Given the description of an element on the screen output the (x, y) to click on. 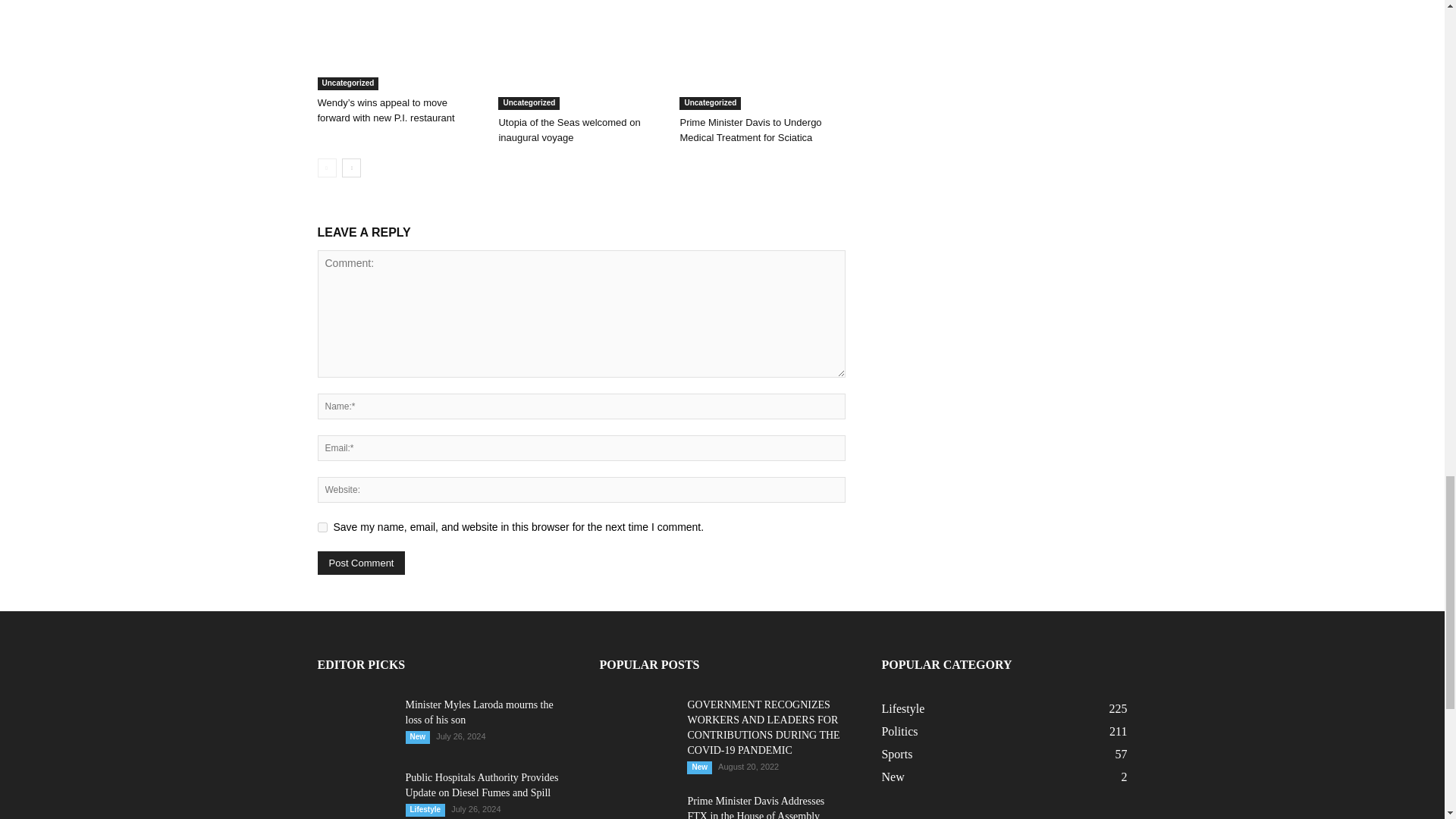
yes (321, 527)
Post Comment (360, 562)
